Given the description of an element on the screen output the (x, y) to click on. 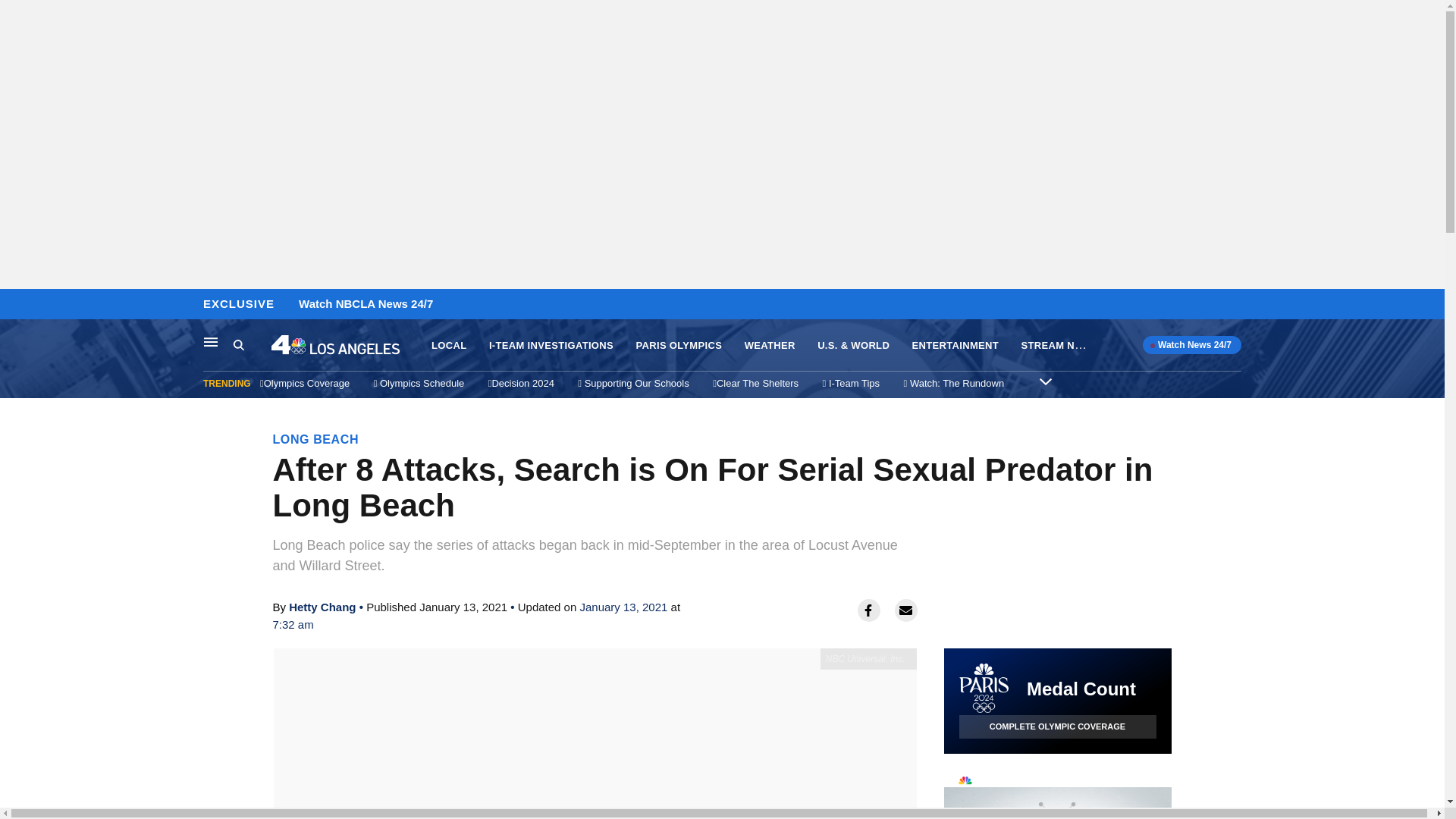
PARIS OLYMPICS (678, 345)
WEATHER (769, 345)
ENTERTAINMENT (955, 345)
LOCAL (447, 345)
I-TEAM INVESTIGATIONS (550, 345)
Expand (1056, 791)
Skip to content (1045, 381)
Search (16, 304)
Hetty Chang (252, 345)
COMPLETE OLYMPIC COVERAGE (321, 606)
Search (1057, 726)
Main Navigation (238, 344)
LONG BEACH (210, 341)
